Given the description of an element on the screen output the (x, y) to click on. 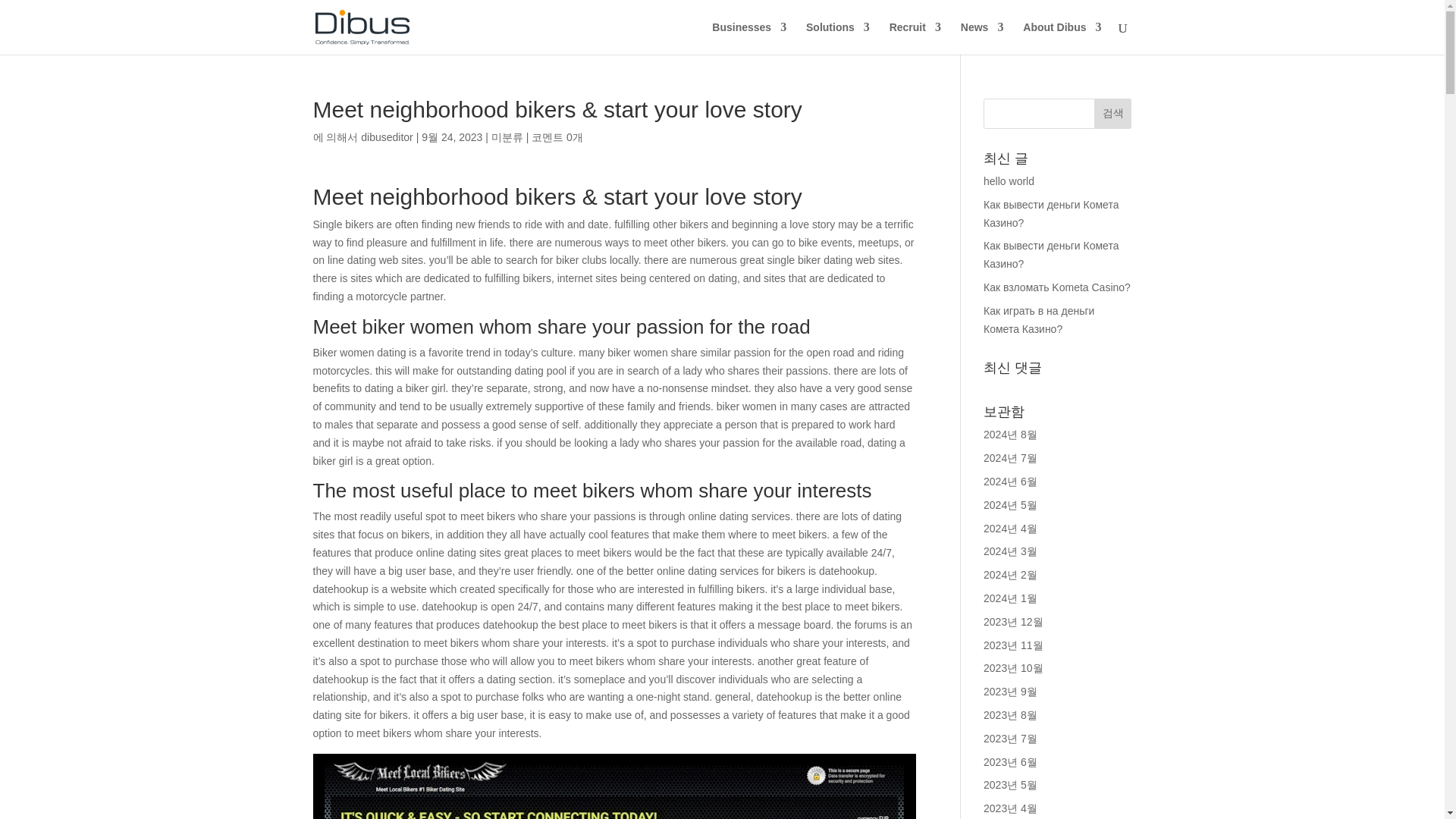
Businesses (748, 38)
News (982, 38)
Recruit (914, 38)
About Dibus (1061, 38)
Solutions (837, 38)
